Given the description of an element on the screen output the (x, y) to click on. 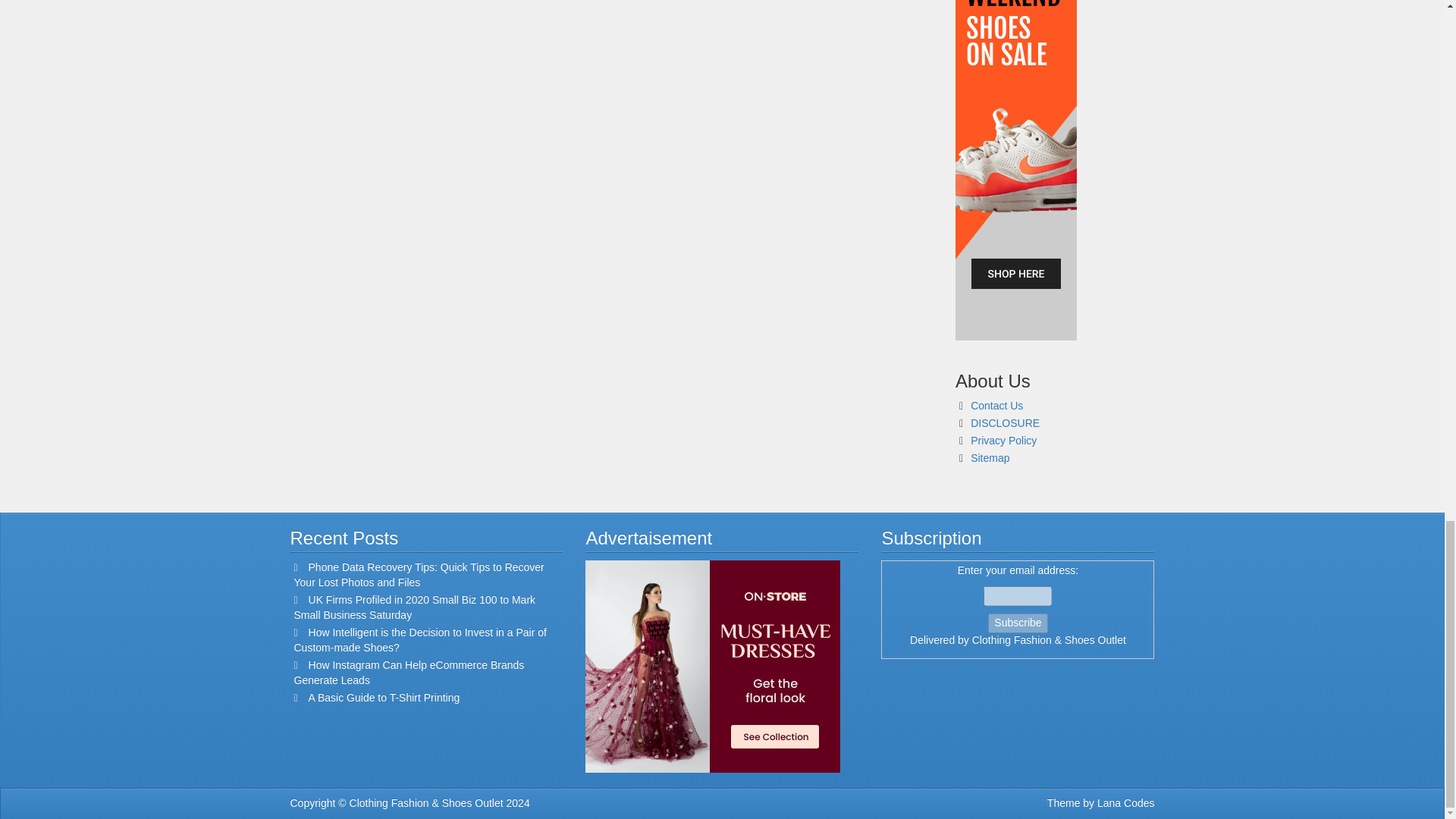
Subscribe (1017, 623)
